Given the description of an element on the screen output the (x, y) to click on. 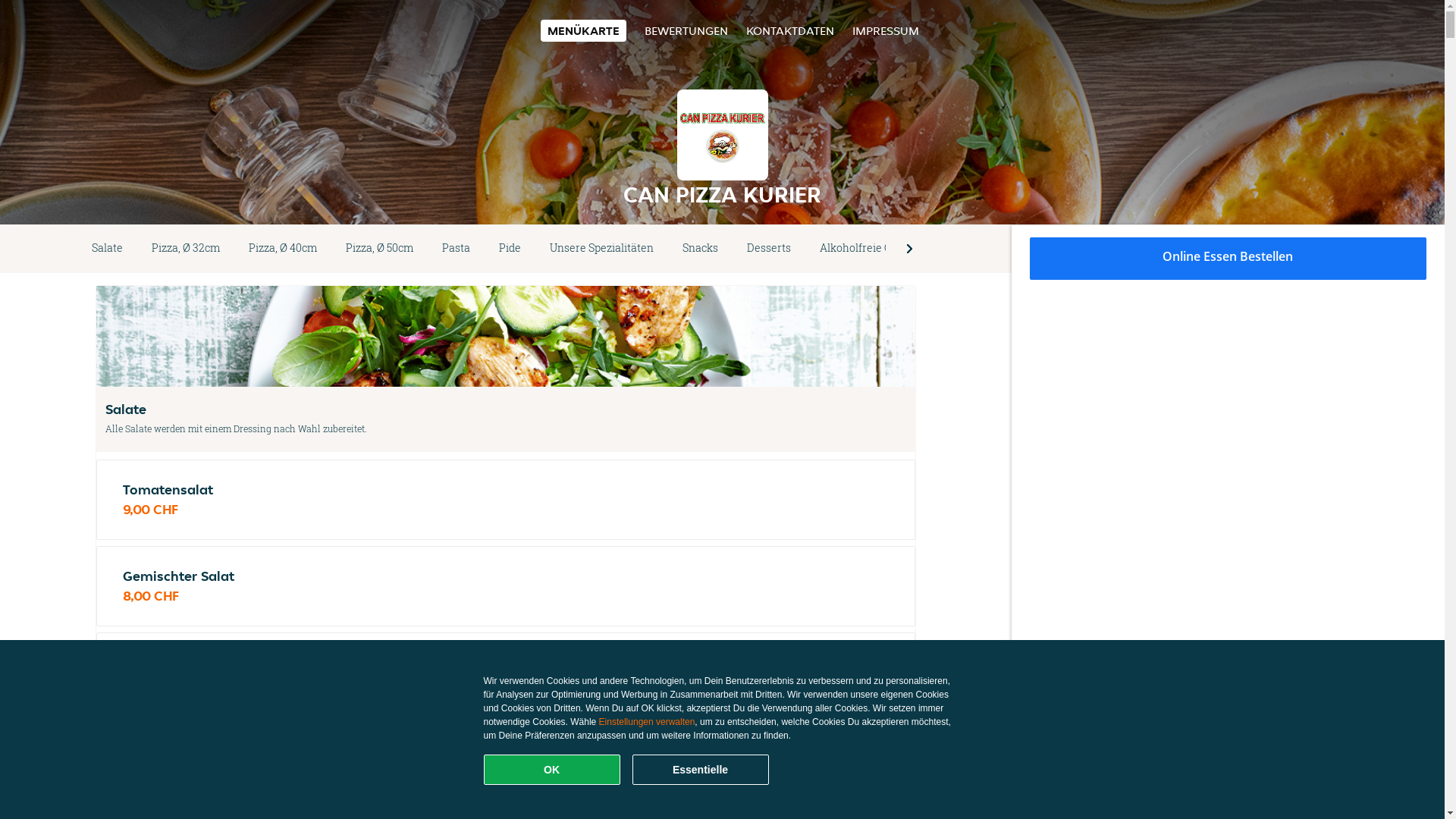
IMPRESSUM Element type: text (885, 30)
Pide Element type: text (509, 248)
Snacks Element type: text (700, 248)
Pasta Element type: text (455, 248)
Essentielle Element type: text (700, 769)
OK Element type: text (551, 769)
Tomatensalat
9,00 CHF Element type: text (505, 499)
Salate Element type: text (107, 248)
Einstellungen verwalten Element type: text (647, 721)
Online Essen Bestellen Element type: text (1228, 258)
BEWERTUNGEN Element type: text (686, 30)
Gemischter Salat
8,00 CHF Element type: text (505, 586)
Desserts Element type: text (768, 248)
KONTAKTDATEN Element type: text (790, 30)
